Given the description of an element on the screen output the (x, y) to click on. 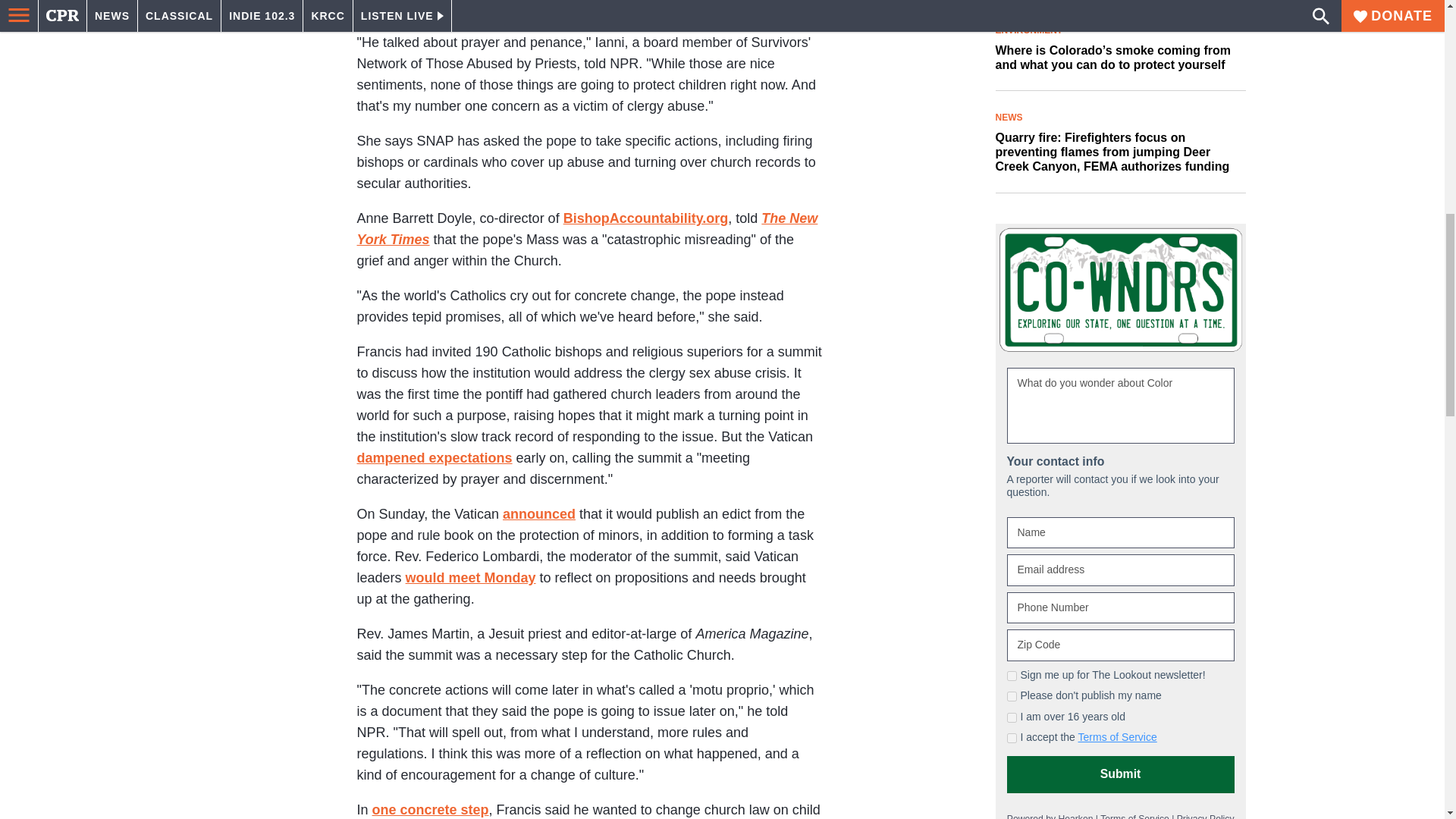
on (1011, 737)
on (1011, 696)
on (1011, 717)
on (1011, 675)
